Given the description of an element on the screen output the (x, y) to click on. 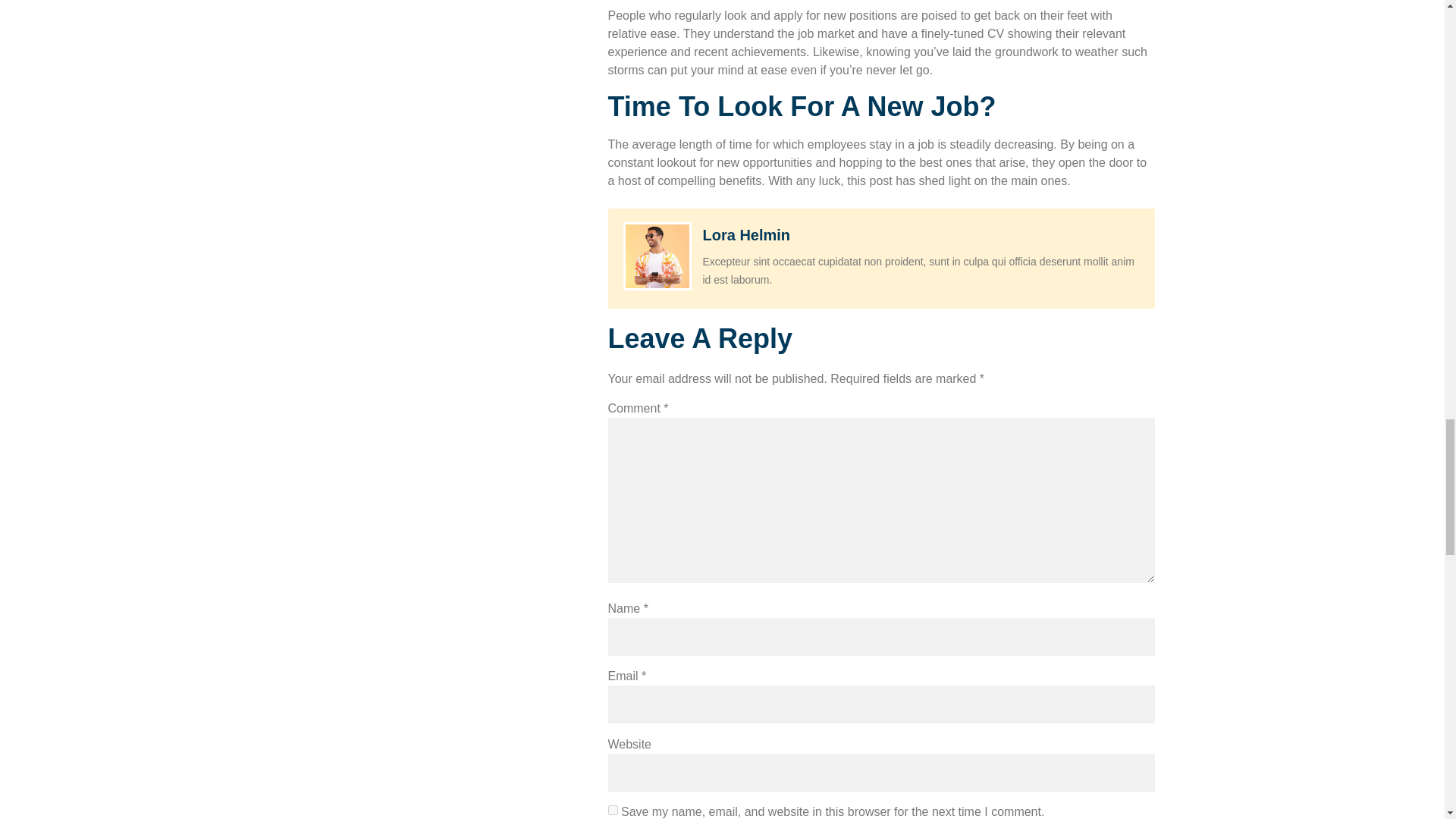
yes (612, 809)
